Given the description of an element on the screen output the (x, y) to click on. 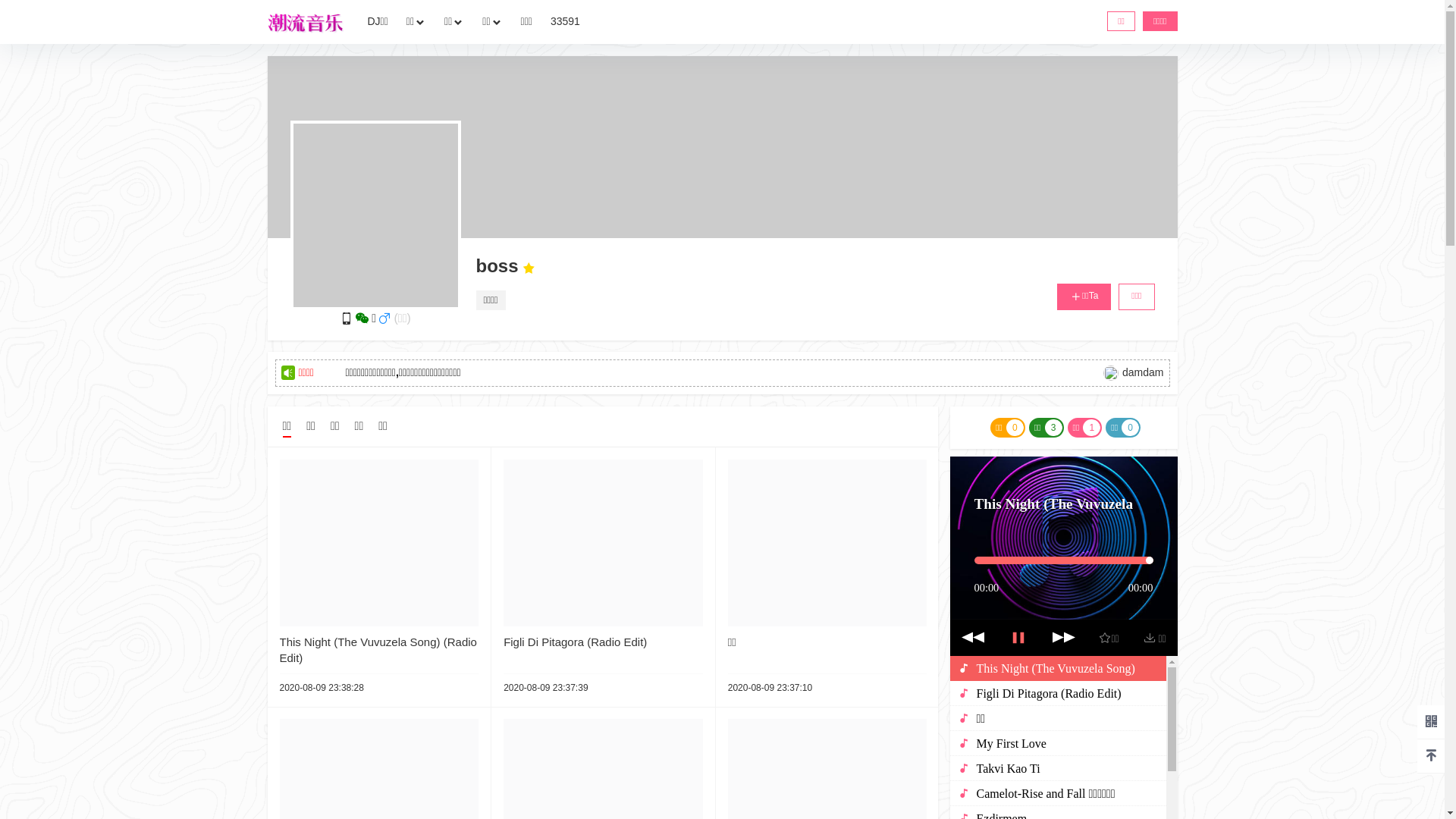
This Night (The Vuvuzela Song) (Radio Edit) Element type: text (377, 649)
33591 Element type: text (565, 21)
Figli Di Pitagora (Radio Edit) Element type: text (574, 641)
